Given the description of an element on the screen output the (x, y) to click on. 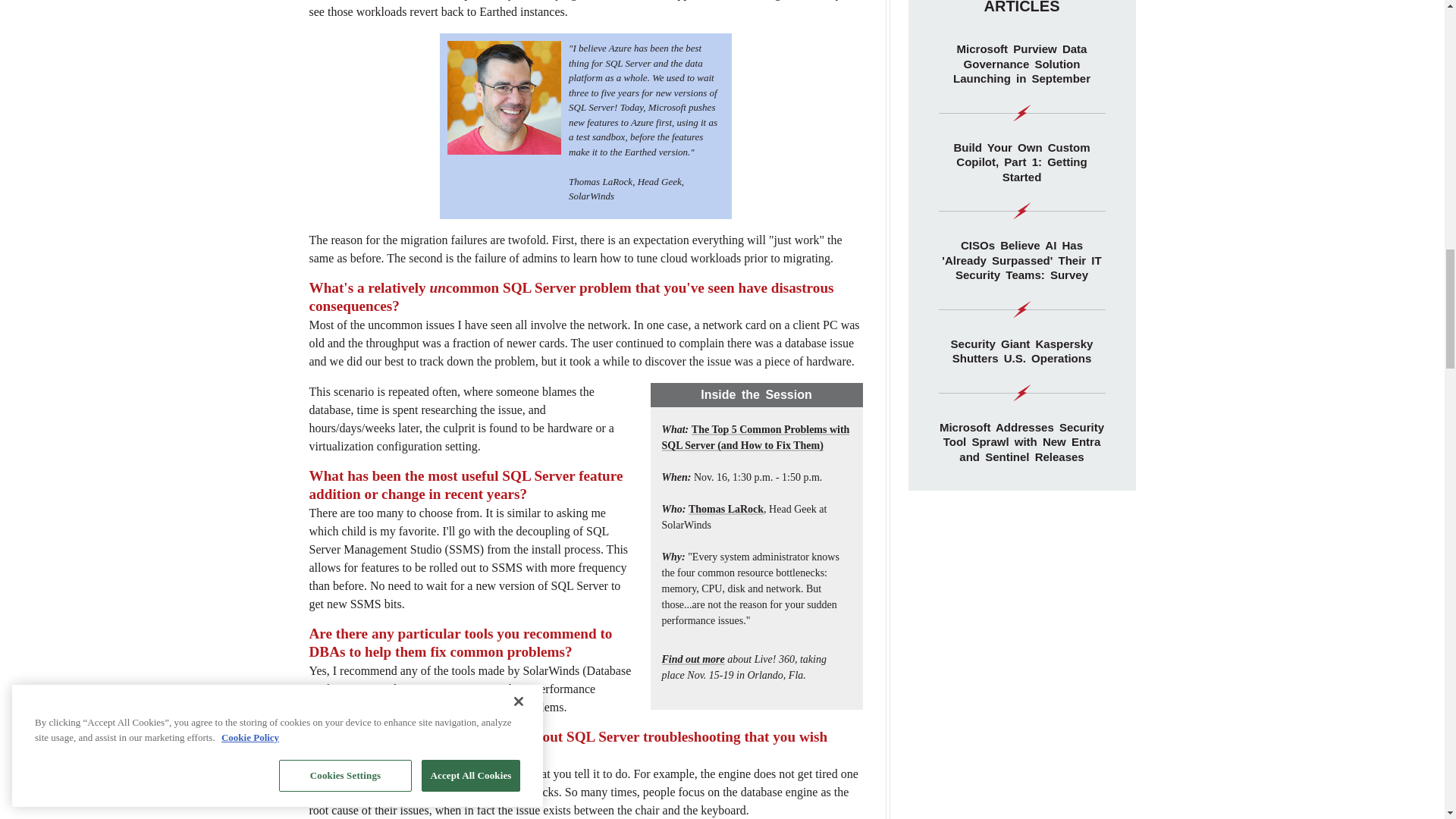
3rd party ad content (1021, 666)
Find out more (692, 659)
Thomas LaRock (725, 509)
